Given the description of an element on the screen output the (x, y) to click on. 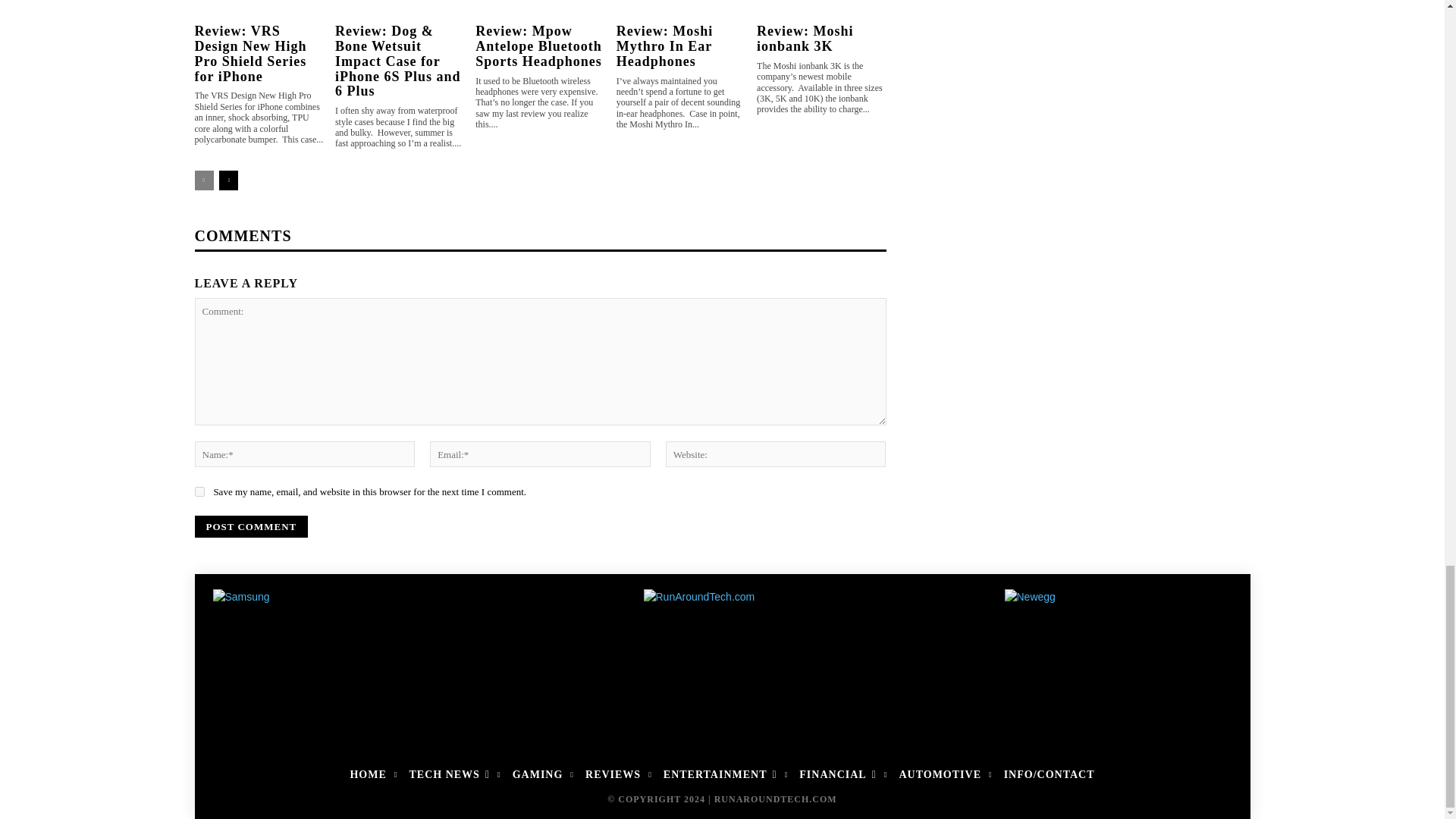
Post Comment (250, 526)
yes (198, 491)
